Given the description of an element on the screen output the (x, y) to click on. 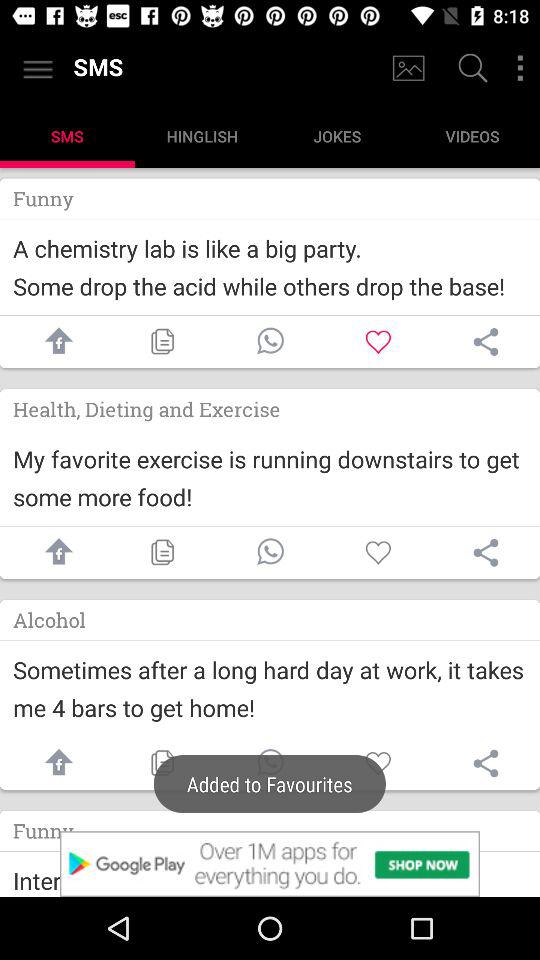
like this (378, 552)
